Given the description of an element on the screen output the (x, y) to click on. 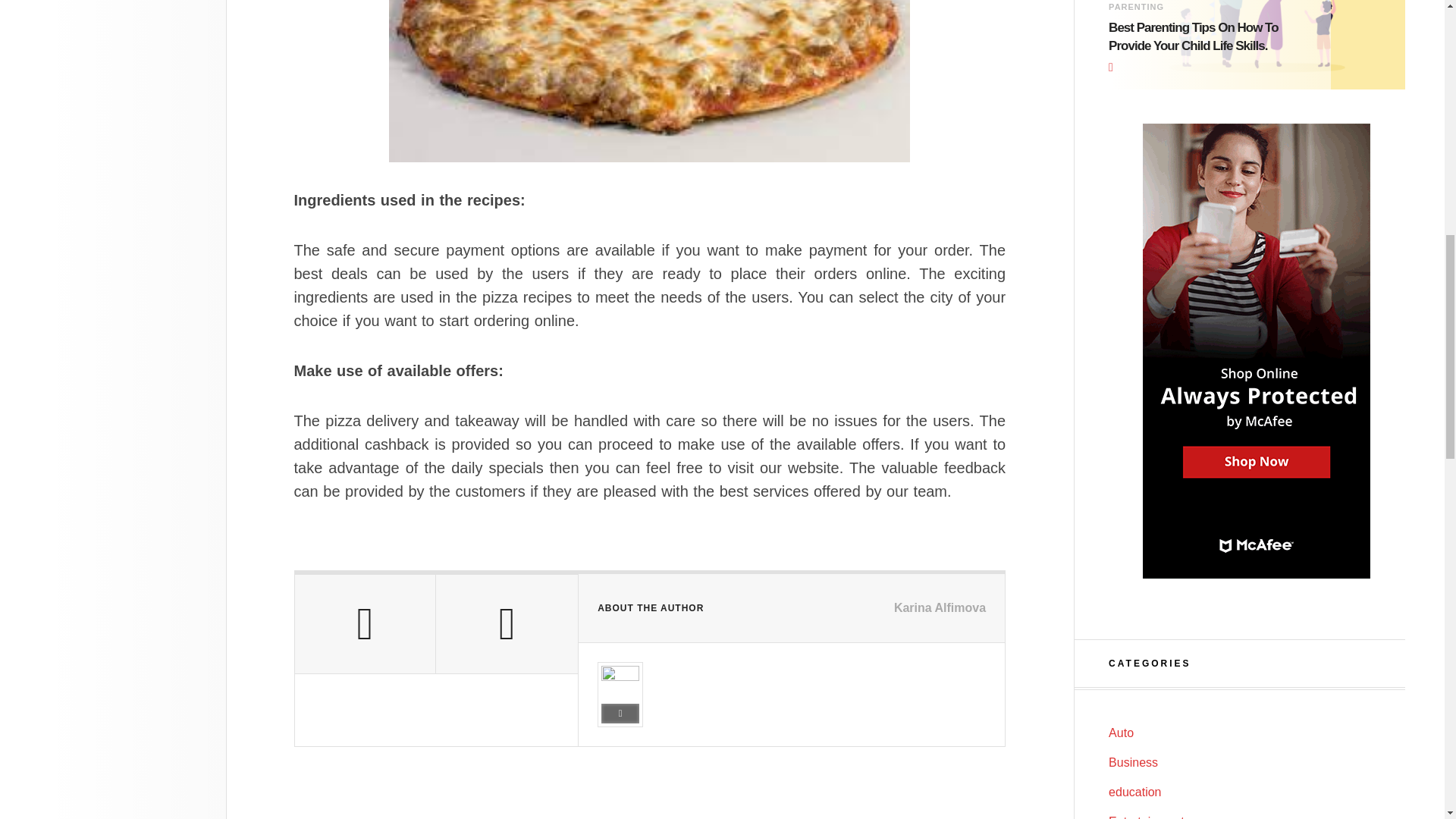
Author's Link (620, 713)
Next Post (506, 623)
PARENTING (1135, 6)
Previous Post (364, 623)
